Given the description of an element on the screen output the (x, y) to click on. 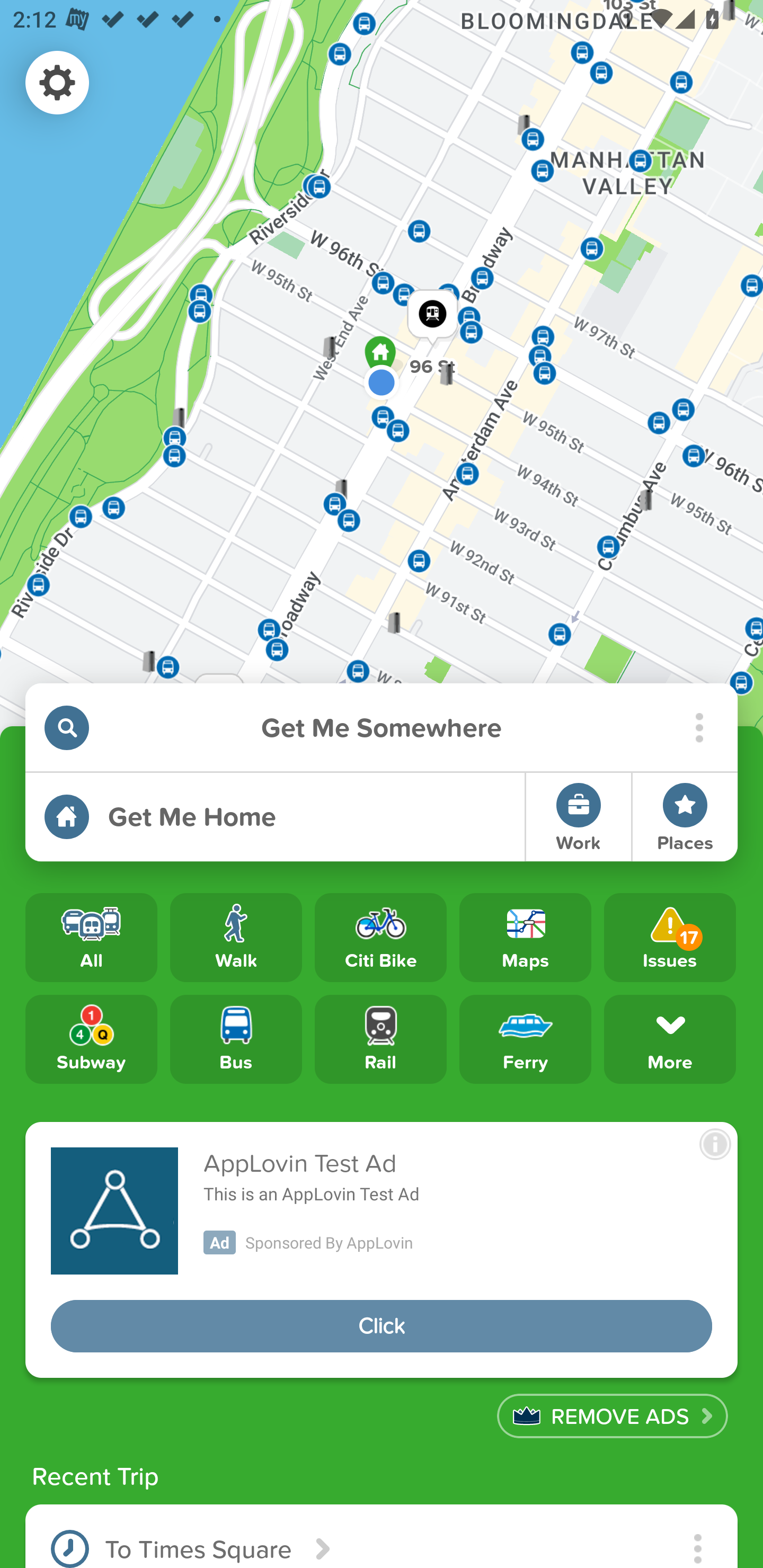
Citi Bike (380, 937)
